Given the description of an element on the screen output the (x, y) to click on. 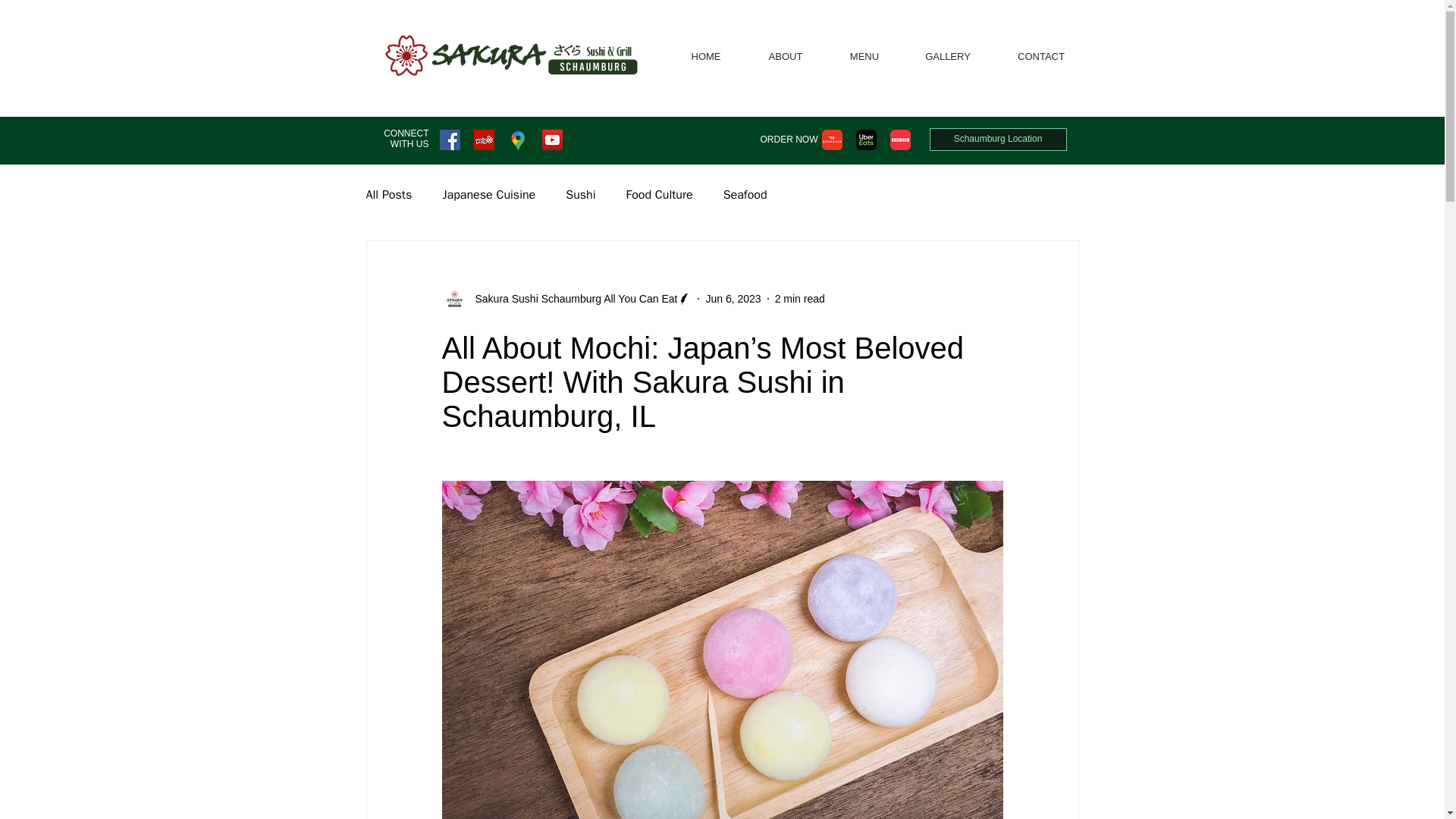
Japanese Cuisine (488, 195)
HOME (705, 56)
2 min read (799, 298)
Seafood (745, 195)
Sushi (580, 195)
Jun 6, 2023 (732, 298)
Schaumburg Location (998, 138)
ABOUT (785, 56)
Food Culture (659, 195)
MENU (864, 56)
GALLERY (948, 56)
All Posts (388, 195)
Sakura Sushi Schaumburg All You Can Eat (571, 299)
CONTACT (1039, 56)
